Given the description of an element on the screen output the (x, y) to click on. 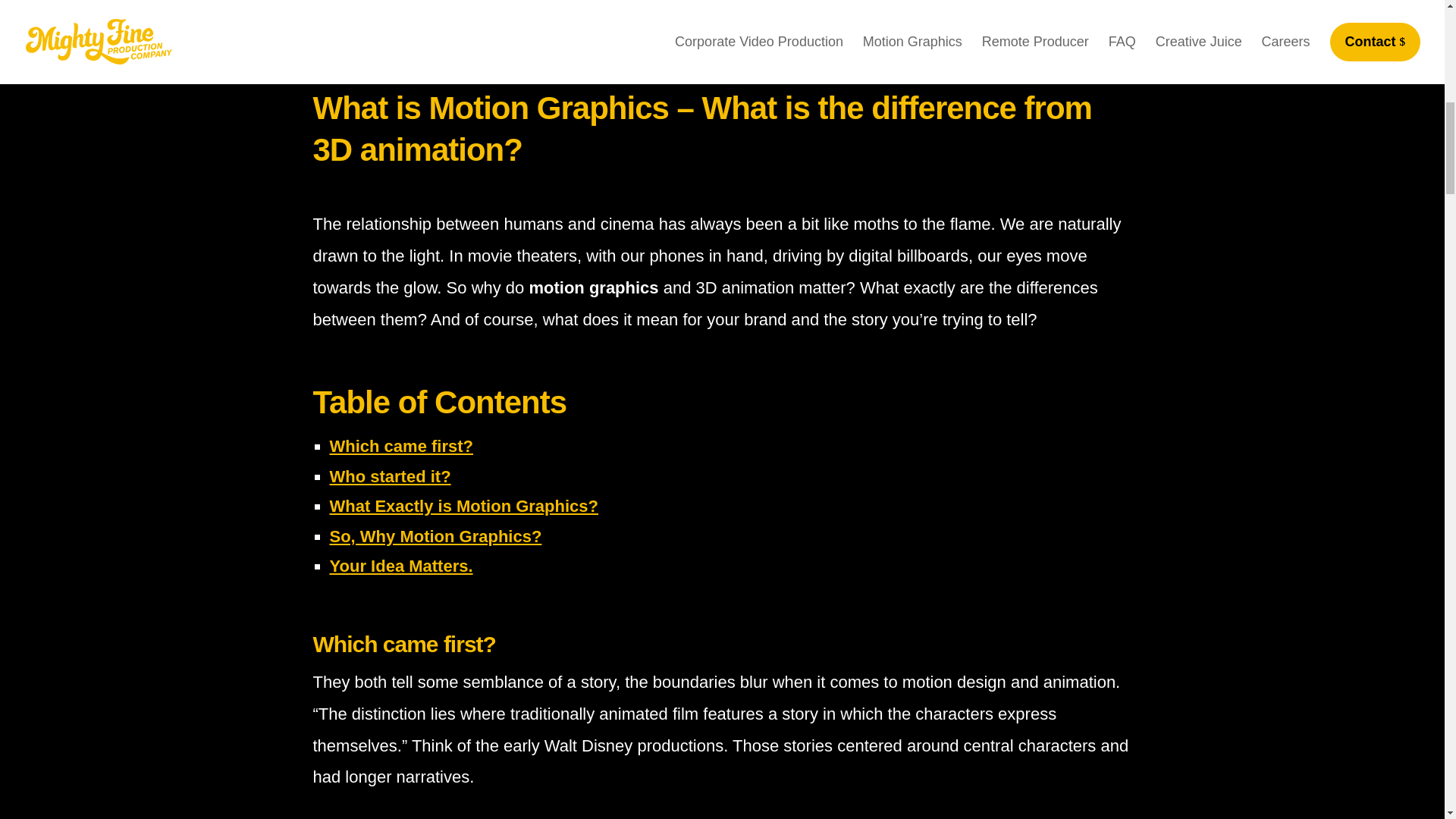
Who started it? (389, 476)
Your Idea Matters. (400, 565)
So, Why Motion Graphics? (435, 536)
What Exactly is Motion Graphics? (463, 505)
Which came first? (400, 445)
